Given the description of an element on the screen output the (x, y) to click on. 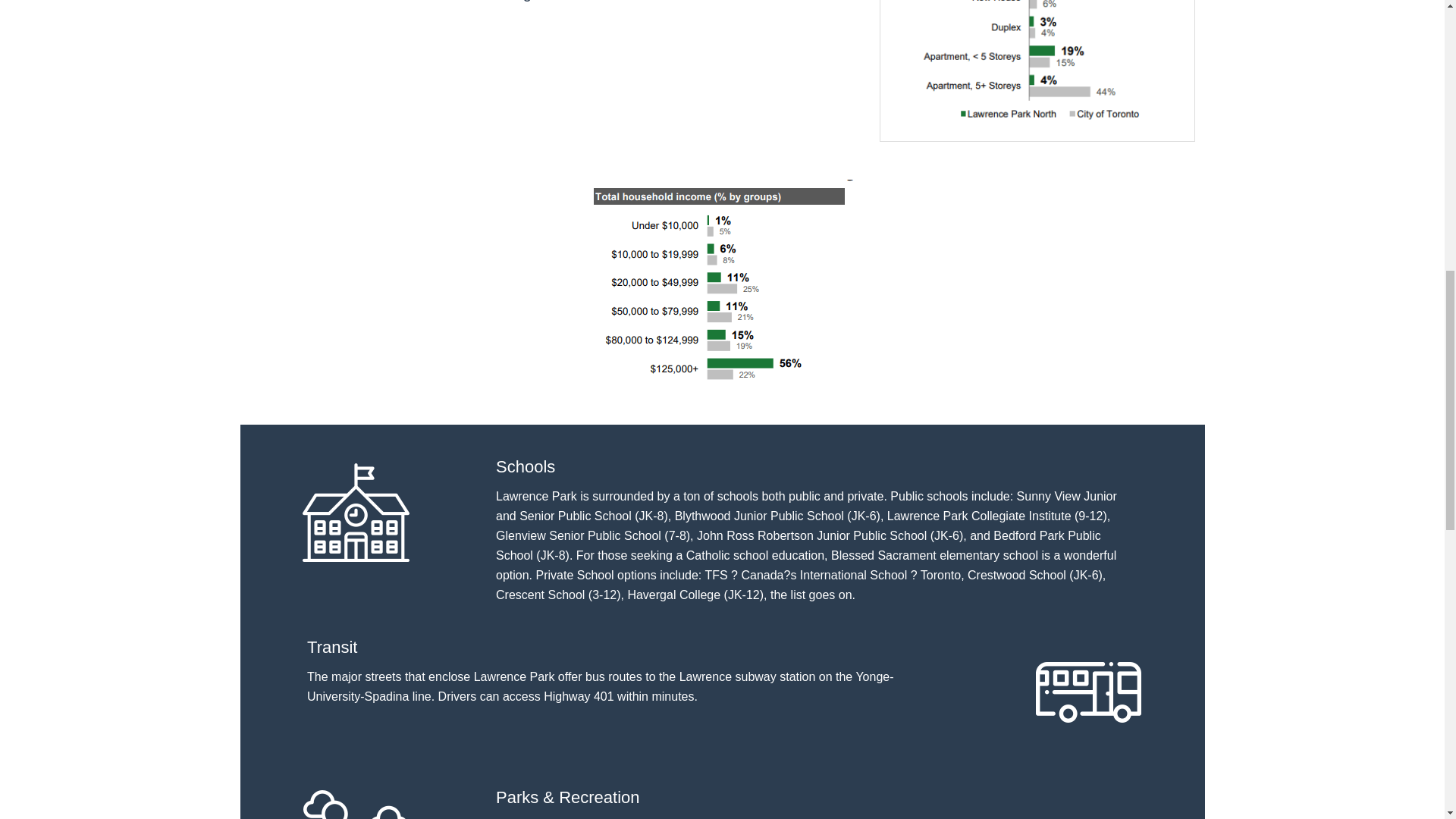
Parks Recreation (355, 802)
School (355, 511)
Transit (1088, 692)
